Given the description of an element on the screen output the (x, y) to click on. 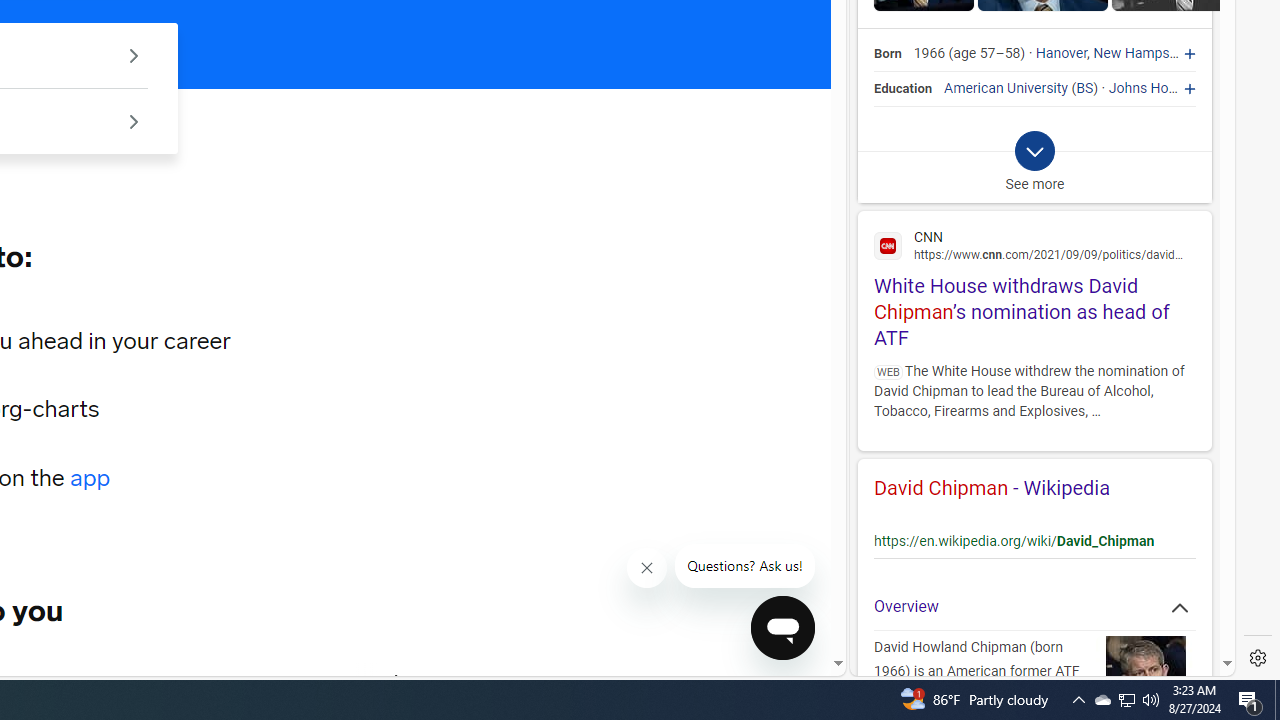
Education (903, 88)
MEDIA (397, 681)
American University (1005, 88)
Born (888, 53)
Class: sc-1k07fow-1 cbnSms (782, 627)
Open messaging window (783, 628)
Hanover (1061, 53)
BS (1085, 88)
Class: b_exp_chevron_svg b_expmob_chev (1034, 151)
STRATEGY (283, 681)
